Given the description of an element on the screen output the (x, y) to click on. 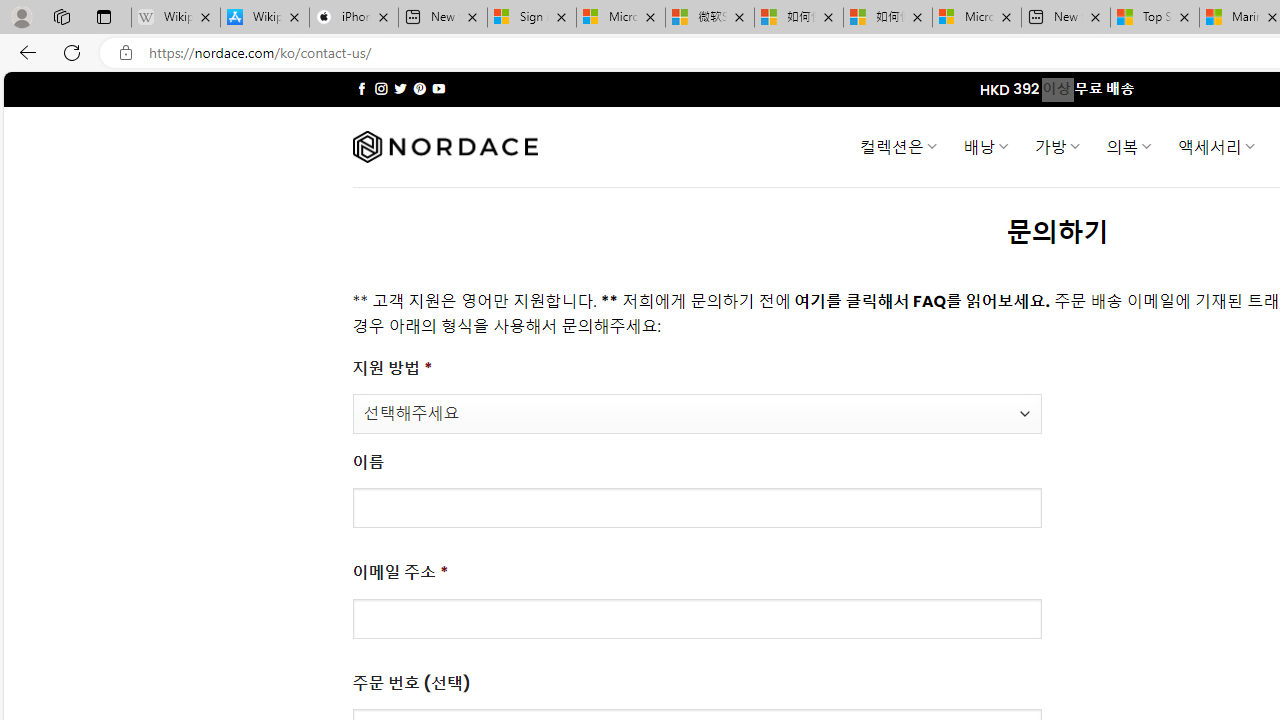
Microsoft account | Account Checkup (977, 17)
iPhone - Apple (353, 17)
Follow on Pinterest (419, 88)
Top Stories - MSN (1155, 17)
Follow on YouTube (438, 88)
